Given the description of an element on the screen output the (x, y) to click on. 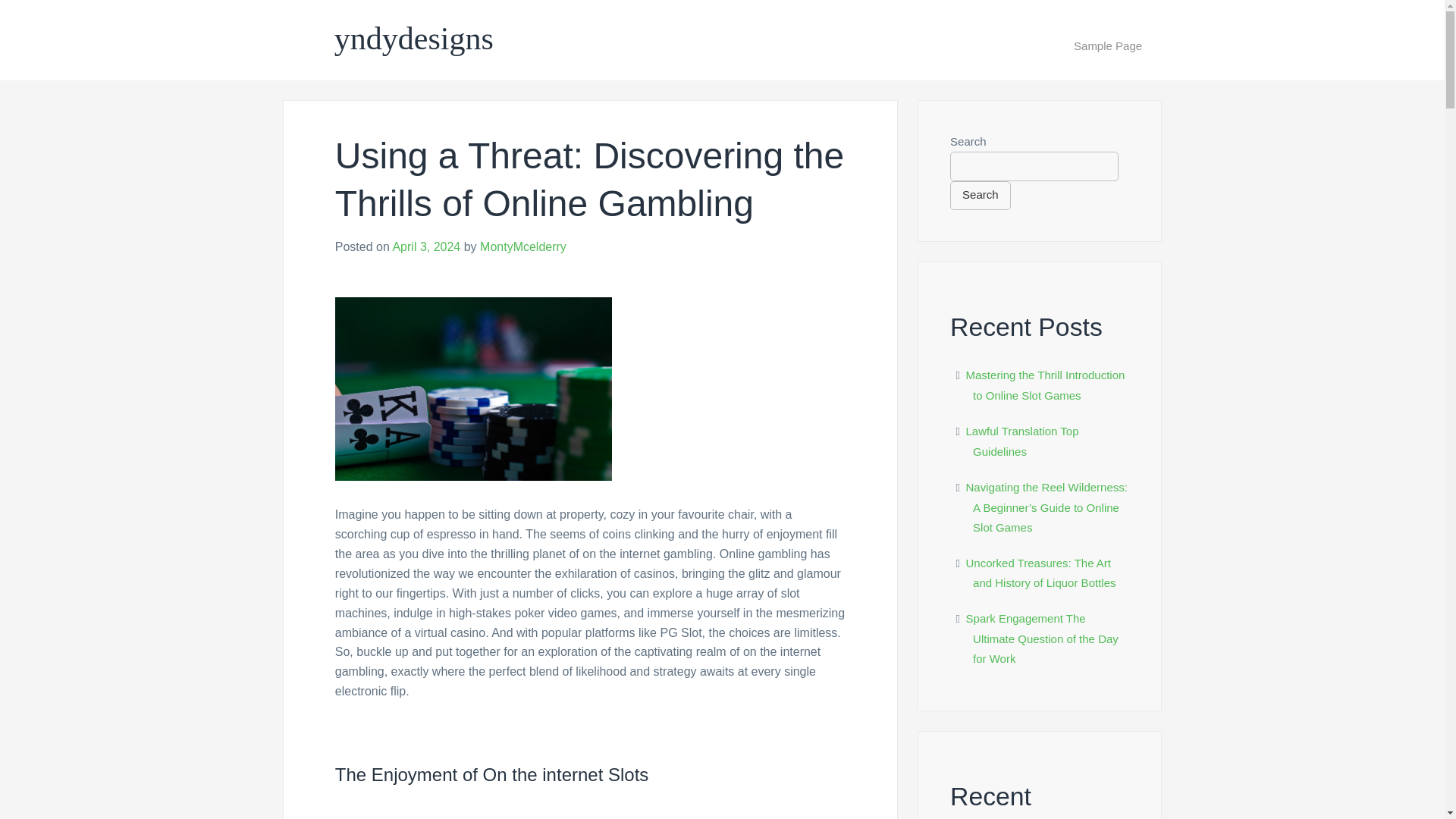
Mastering the Thrill Introduction to Online Slot Games (1045, 385)
Sample Page (1107, 46)
Spark Engagement The Ultimate Question of the Day for Work (1042, 638)
Lawful Translation Top Guidelines (1022, 441)
yndydesigns (413, 38)
April 3, 2024 (425, 246)
Search (980, 194)
Uncorked Treasures: The Art and History of Liquor Bottles (1041, 572)
MontyMcelderry (523, 246)
